Given the description of an element on the screen output the (x, y) to click on. 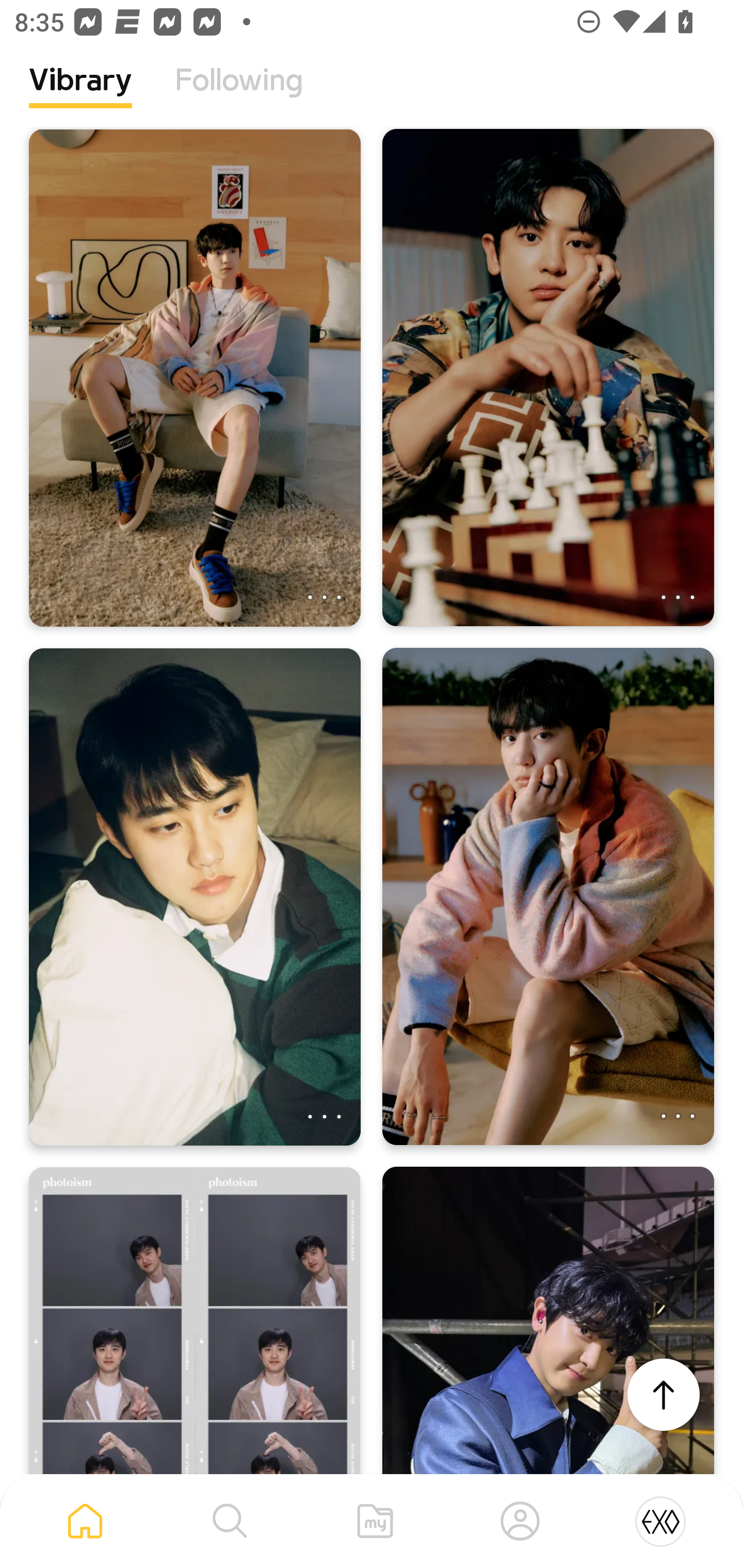
Vibrary (80, 95)
Following (239, 95)
